Given the description of an element on the screen output the (x, y) to click on. 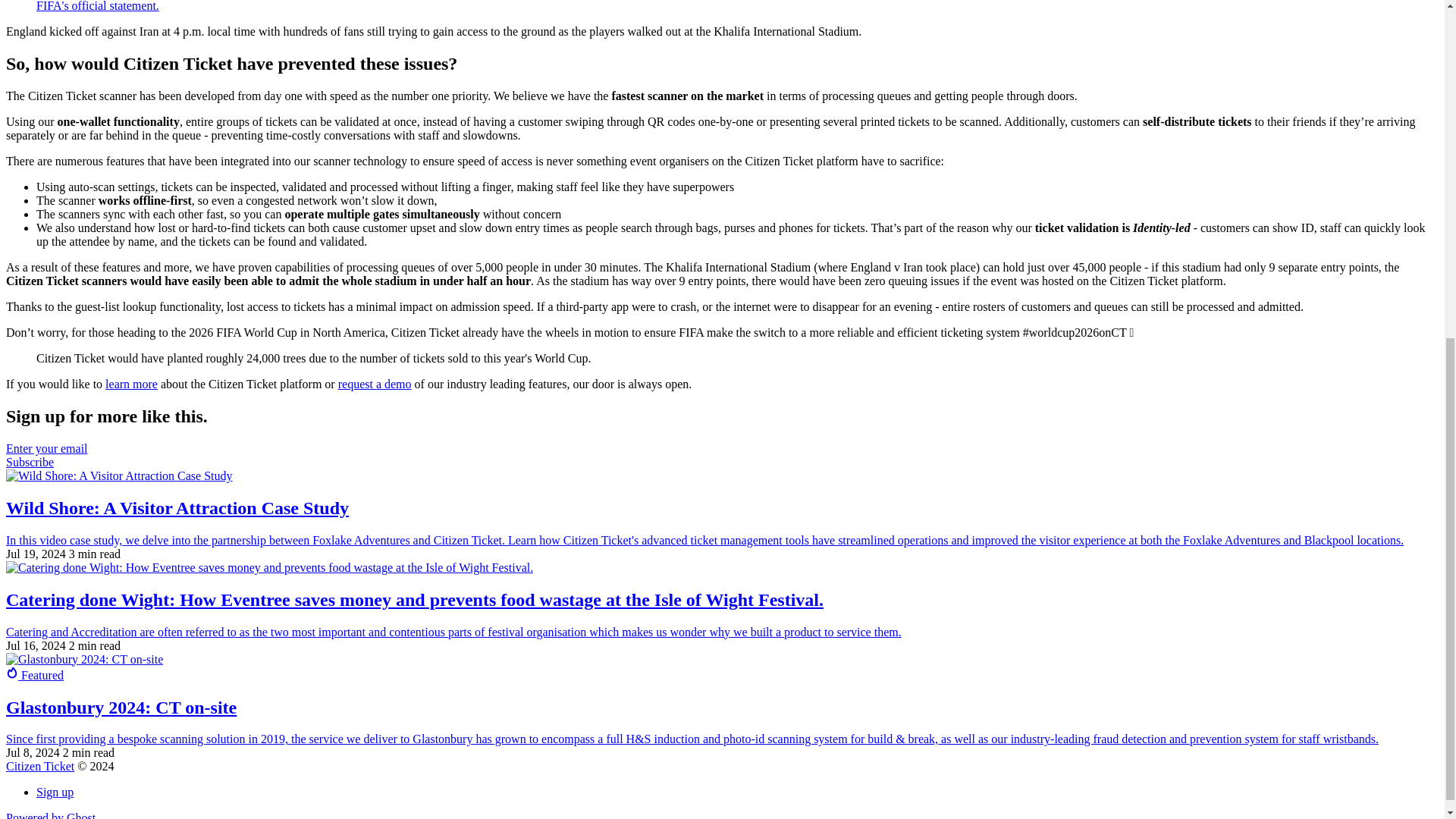
Sign up (55, 791)
Citizen Ticket (39, 766)
request a demo (374, 383)
learn more (130, 383)
FIFA's official statement. (97, 6)
